Given the description of an element on the screen output the (x, y) to click on. 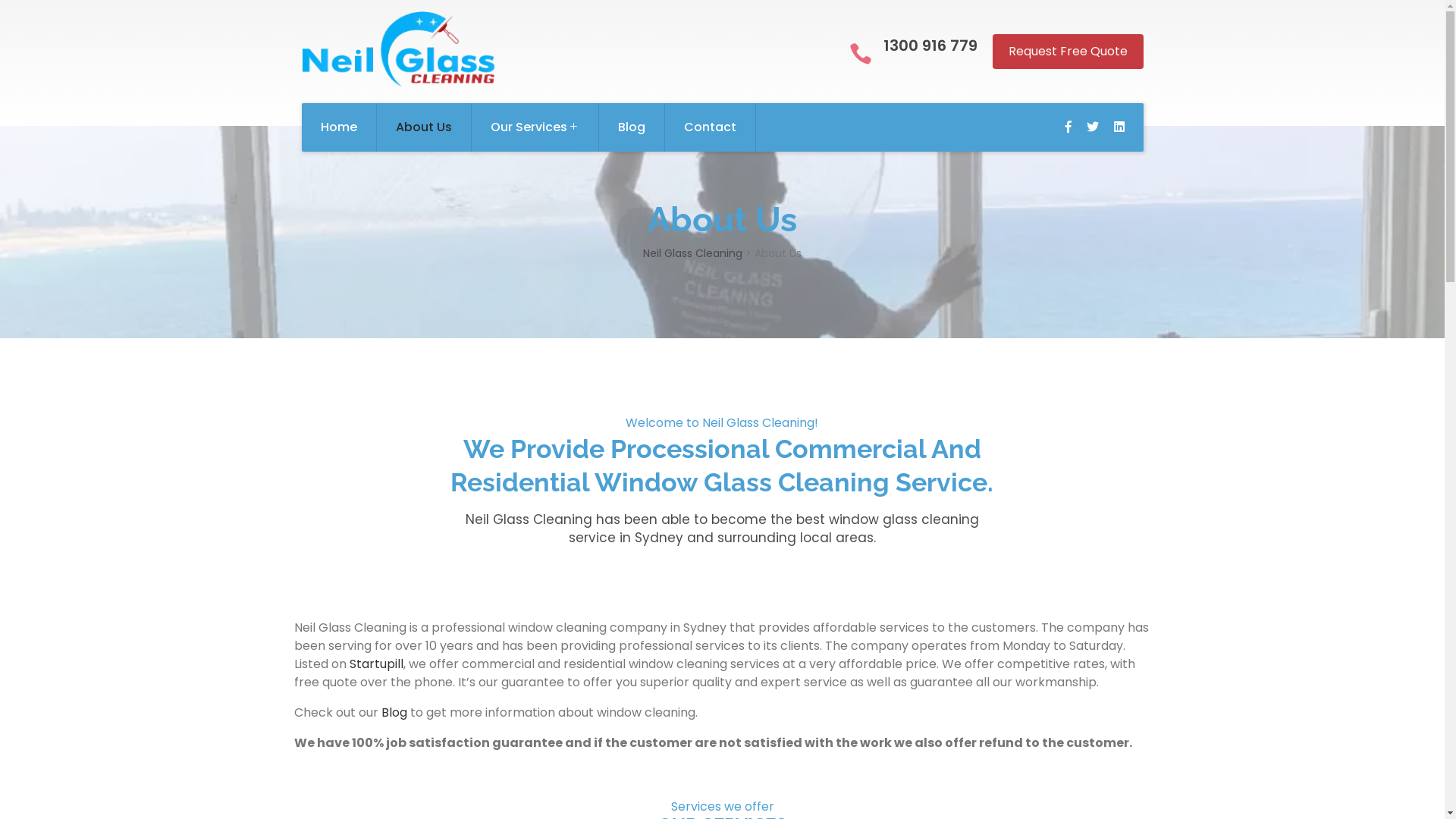
Contact Element type: text (709, 127)
Neil Glass Cleaning Element type: text (692, 252)
Home Element type: text (338, 127)
About Us Element type: text (423, 127)
1300 916 779 Element type: text (929, 45)
Blog Element type: text (632, 127)
Blog Element type: text (393, 712)
Request Free Quote Element type: text (1066, 51)
Startupill Element type: text (375, 663)
Our Services Element type: text (535, 127)
